Given the description of an element on the screen output the (x, y) to click on. 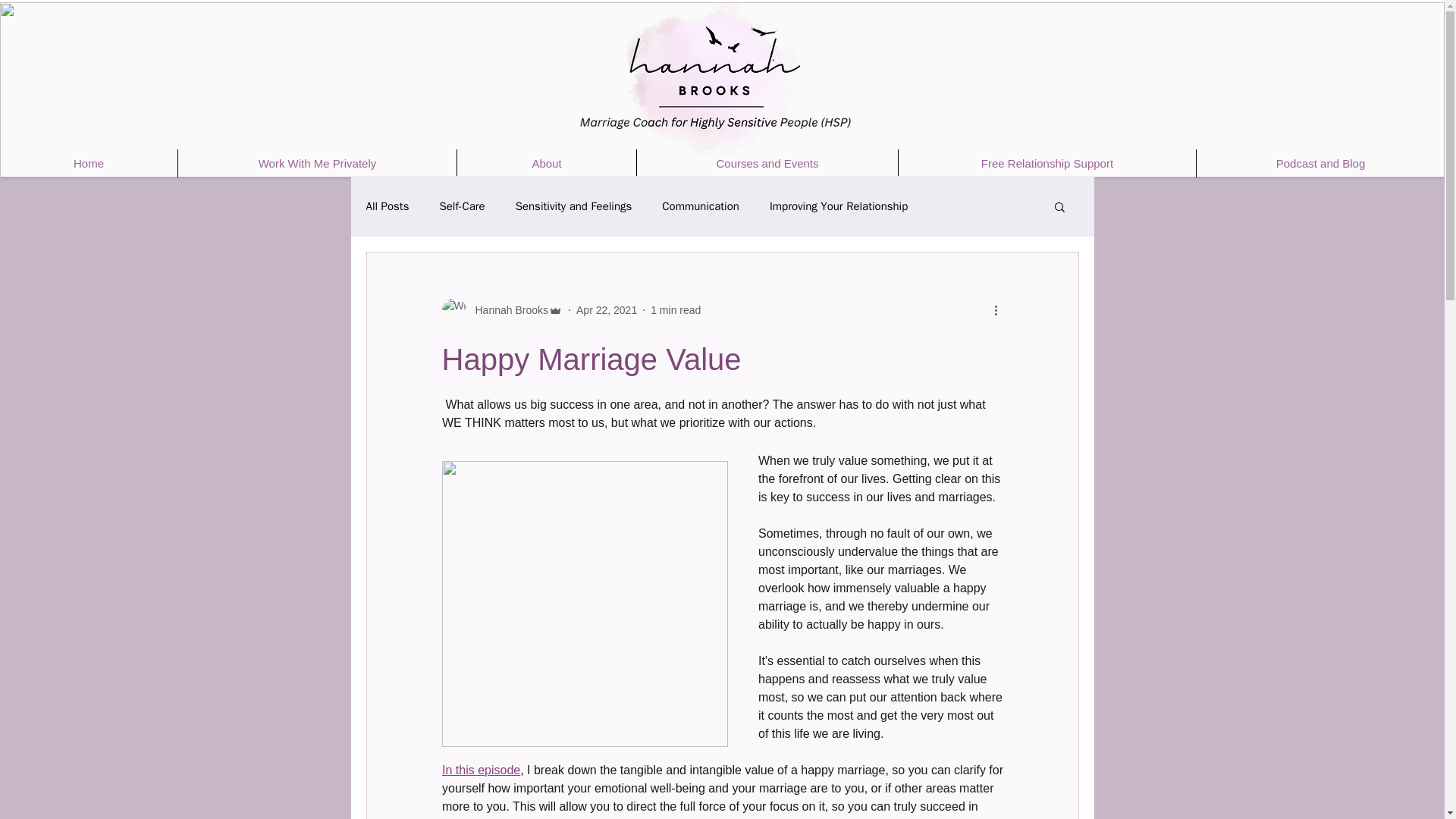
Hannah Brooks (506, 309)
In this episode (480, 769)
About (546, 163)
Communication (700, 205)
All Posts (387, 205)
Improving Your Relationship (838, 205)
Apr 22, 2021 (606, 309)
Sensitivity and Feelings (573, 205)
Courses and Events (767, 163)
Work With Me Privately (317, 163)
Free Relationship Support (1046, 163)
Self-Care (461, 205)
Home (88, 163)
1 min read (675, 309)
